Given the description of an element on the screen output the (x, y) to click on. 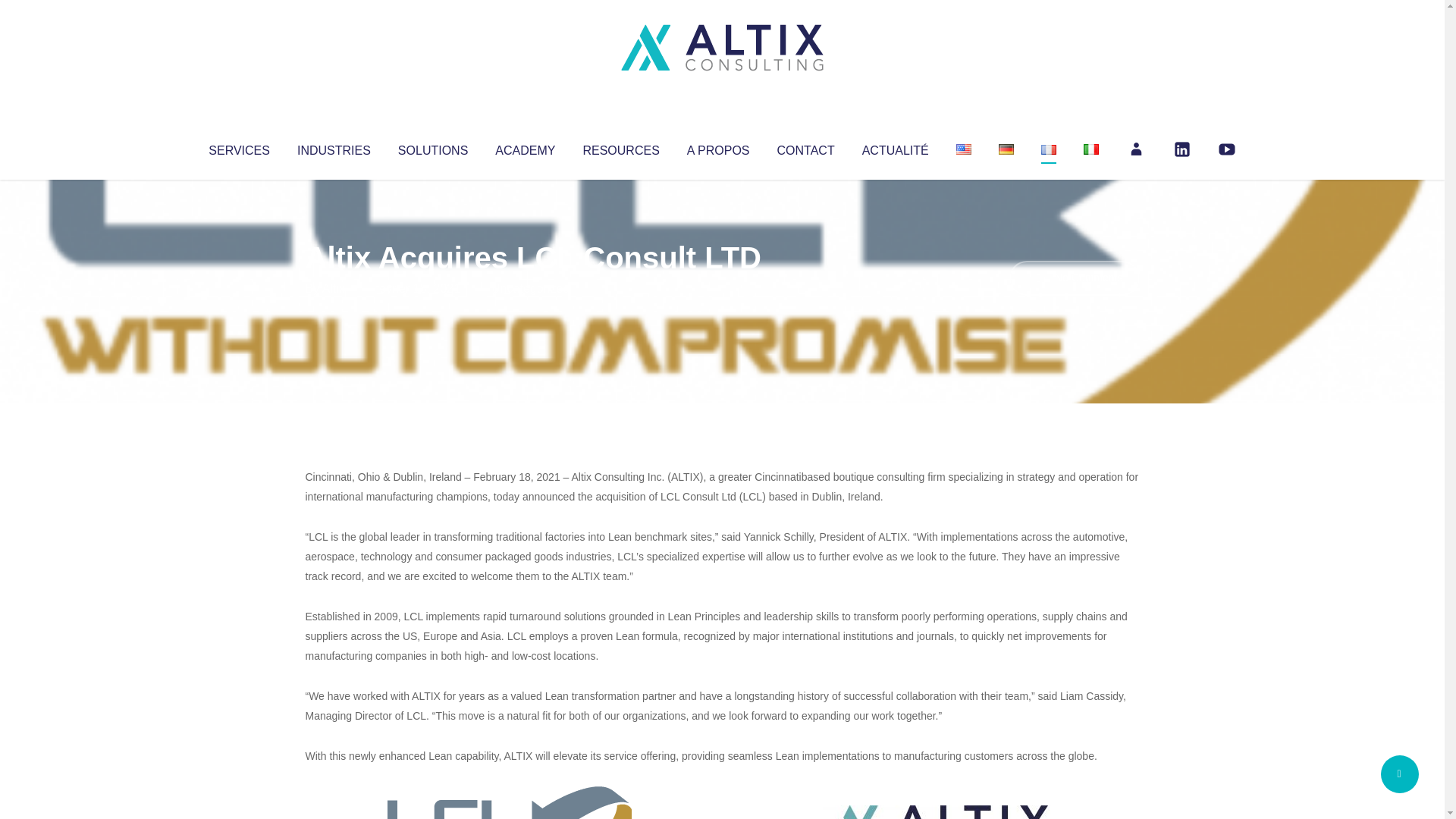
A PROPOS (718, 146)
Uncategorized (530, 287)
SOLUTIONS (432, 146)
ACADEMY (524, 146)
RESOURCES (620, 146)
No Comments (1073, 278)
SERVICES (238, 146)
Articles par Altix (333, 287)
INDUSTRIES (334, 146)
Altix (333, 287)
